Given the description of an element on the screen output the (x, y) to click on. 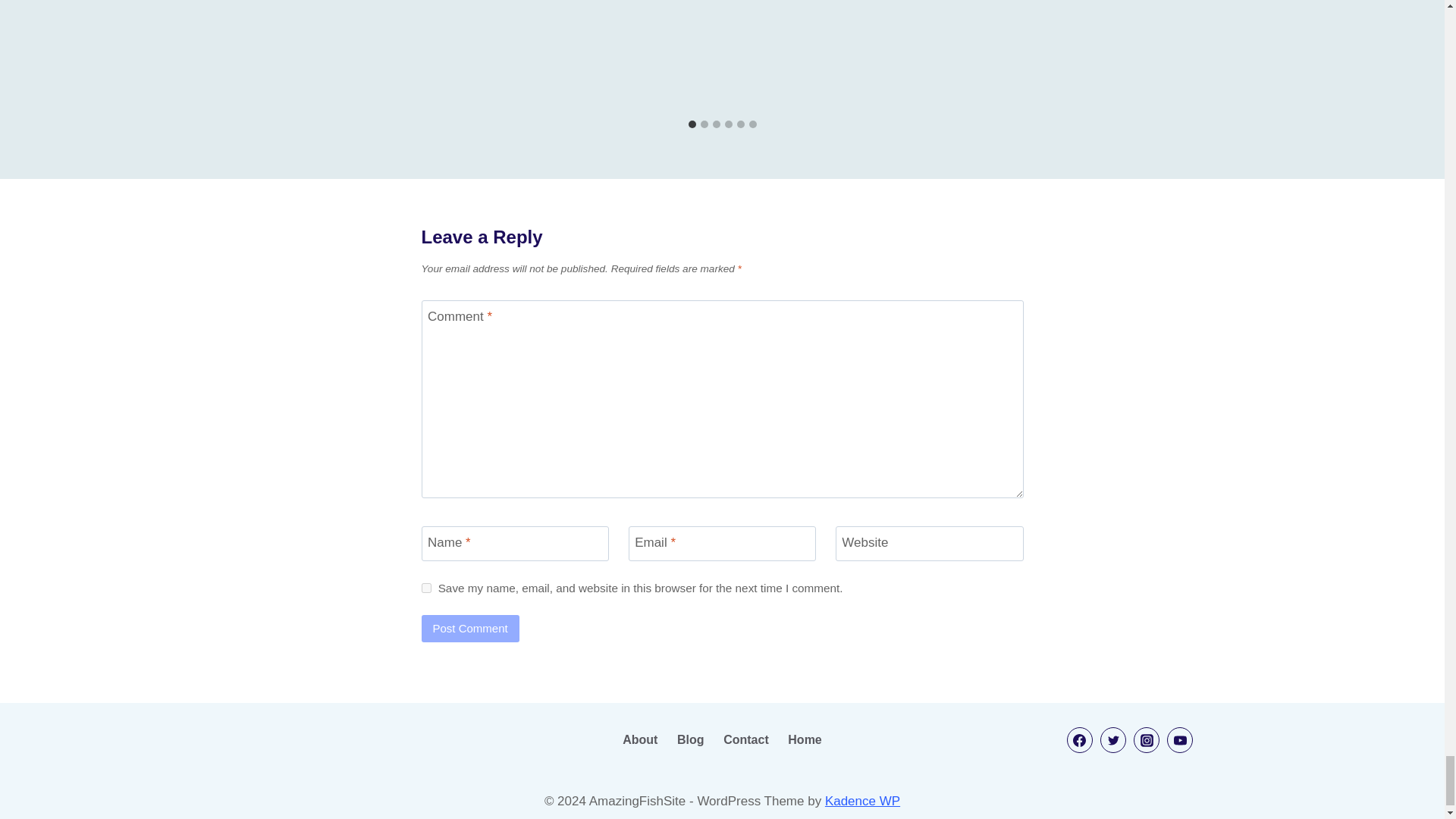
Post Comment (470, 628)
yes (426, 587)
